Given the description of an element on the screen output the (x, y) to click on. 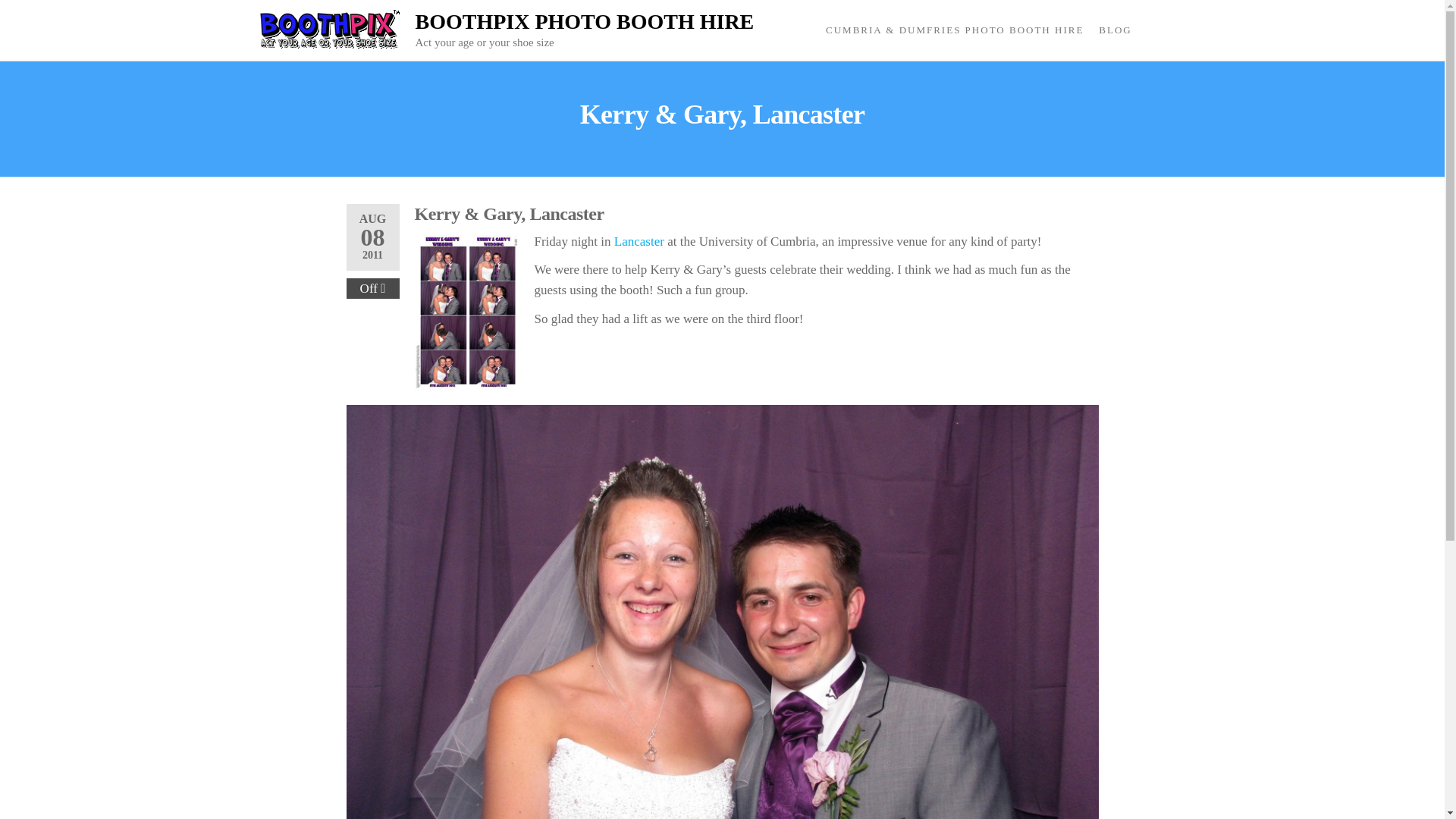
BOOTHPIX PHOTO BOOTH HIRE (584, 21)
Lancaster (638, 241)
photo booth hire lancashire (638, 241)
